Given the description of an element on the screen output the (x, y) to click on. 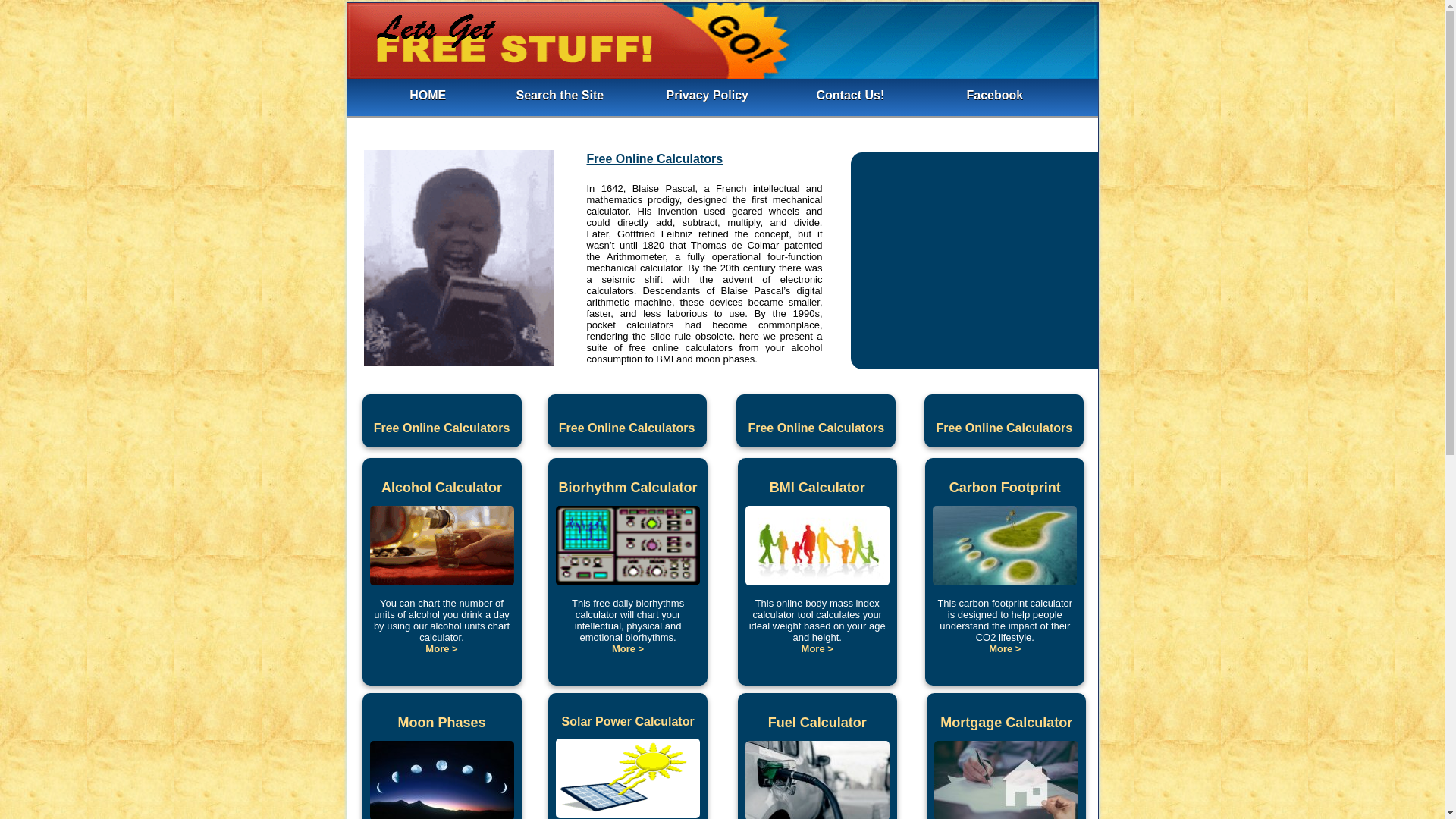
Moon Phases Calendar (441, 815)
Biorhythm Calculator (627, 648)
Carbon Footprint (1005, 488)
Fuel Calculator (817, 723)
BMI Calculator (817, 648)
Alcohol Chart (441, 619)
Contact Us! (850, 93)
Solar Power Calculator (627, 722)
